Given the description of an element on the screen output the (x, y) to click on. 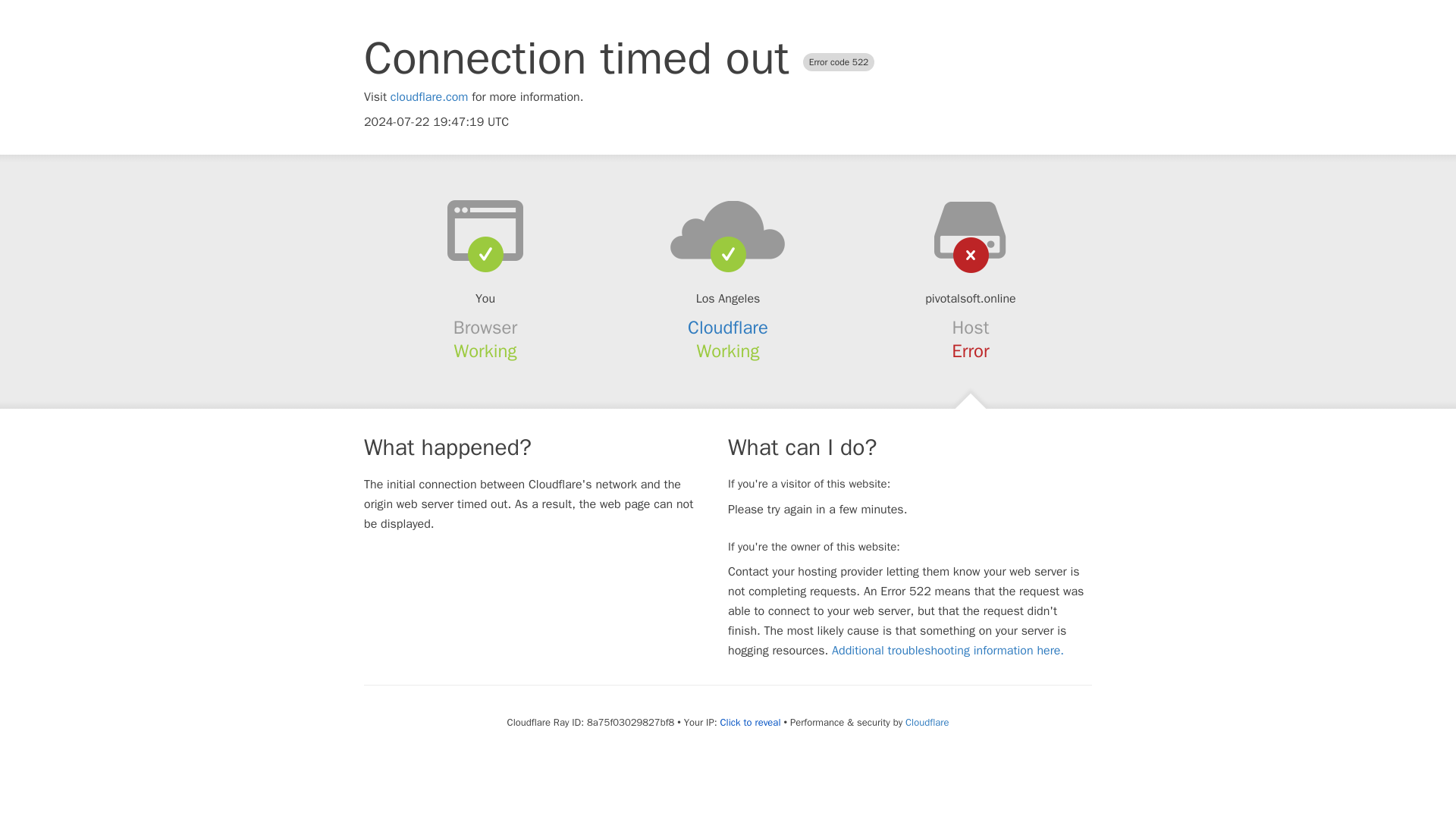
cloudflare.com (429, 96)
Click to reveal (750, 722)
Additional troubleshooting information here. (947, 650)
Cloudflare (727, 327)
Cloudflare (927, 721)
